Given the description of an element on the screen output the (x, y) to click on. 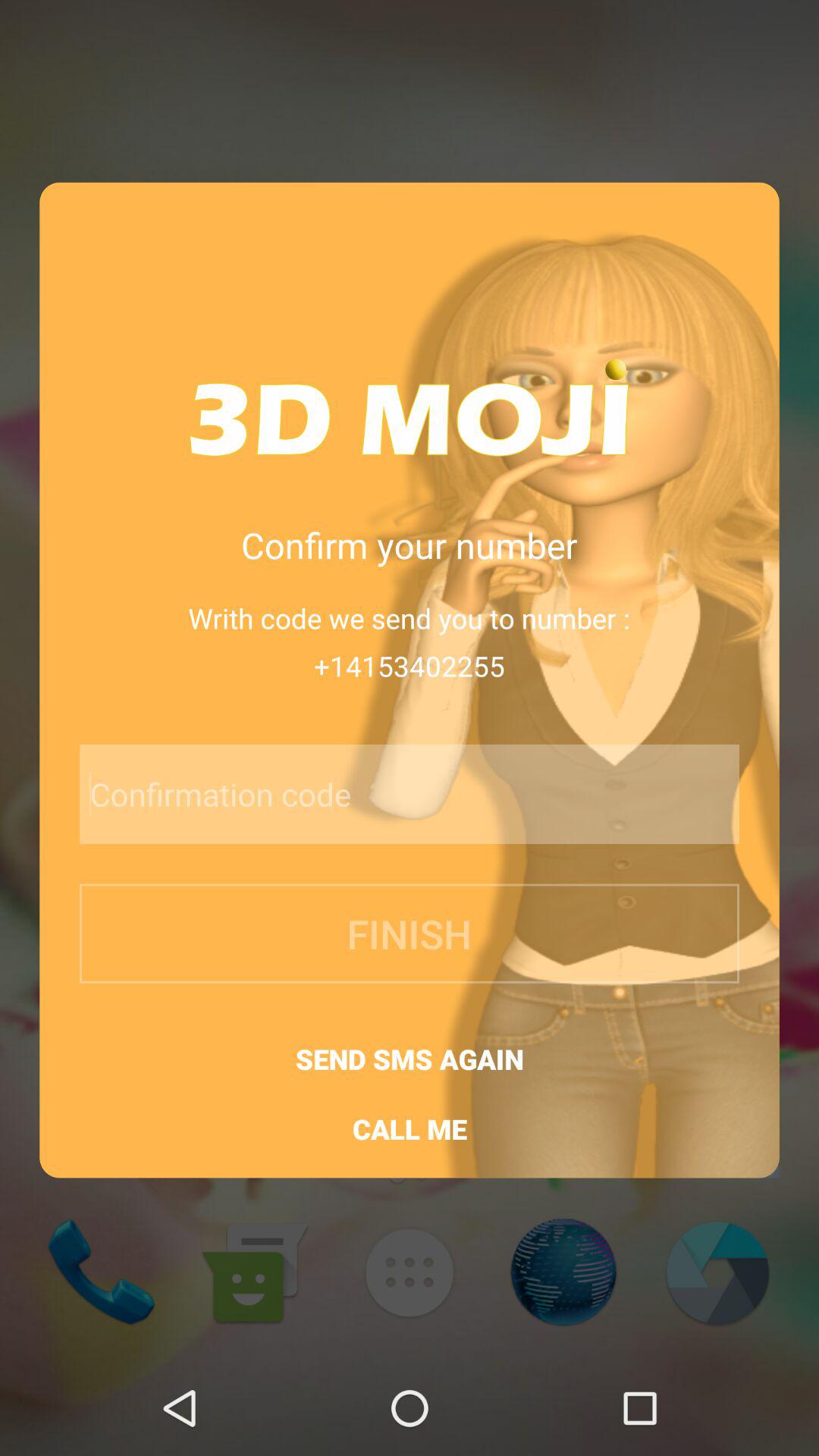
scroll until send sms again (409, 1059)
